Given the description of an element on the screen output the (x, y) to click on. 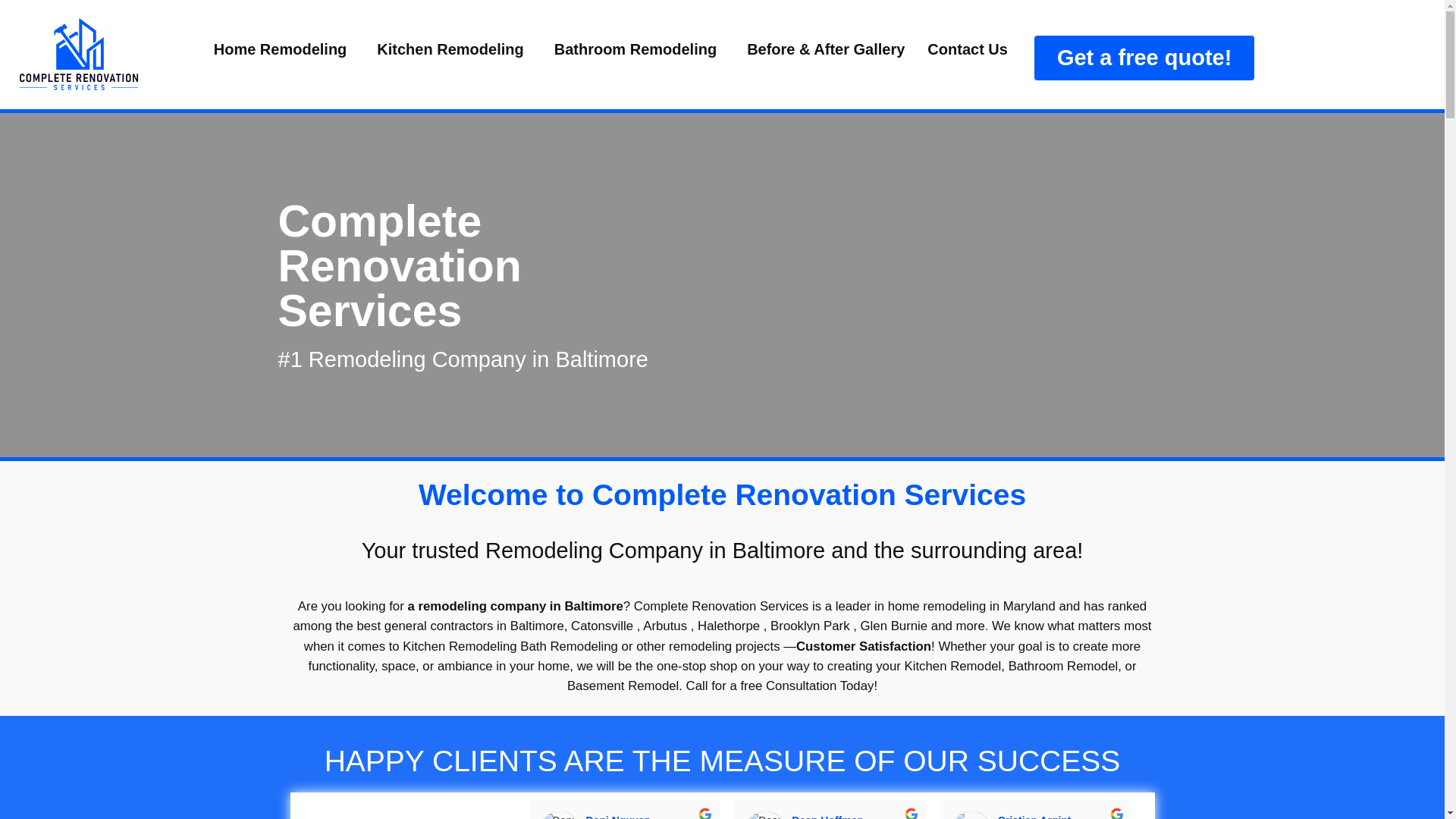
Cristian Argint (1036, 816)
Home Remodeling (284, 48)
Kitchen Remodeling (453, 48)
A Google User (1176, 815)
Dean Hoffman (829, 816)
Dani Nguyen (559, 815)
Get a free quote! (1143, 58)
Cristian Argint (971, 815)
Dani Nguyen (620, 816)
Contact Us (967, 48)
Bathroom Remodeling (639, 48)
Emmanuel Padilla (1383, 815)
Dean Hoffman (764, 815)
